Given the description of an element on the screen output the (x, y) to click on. 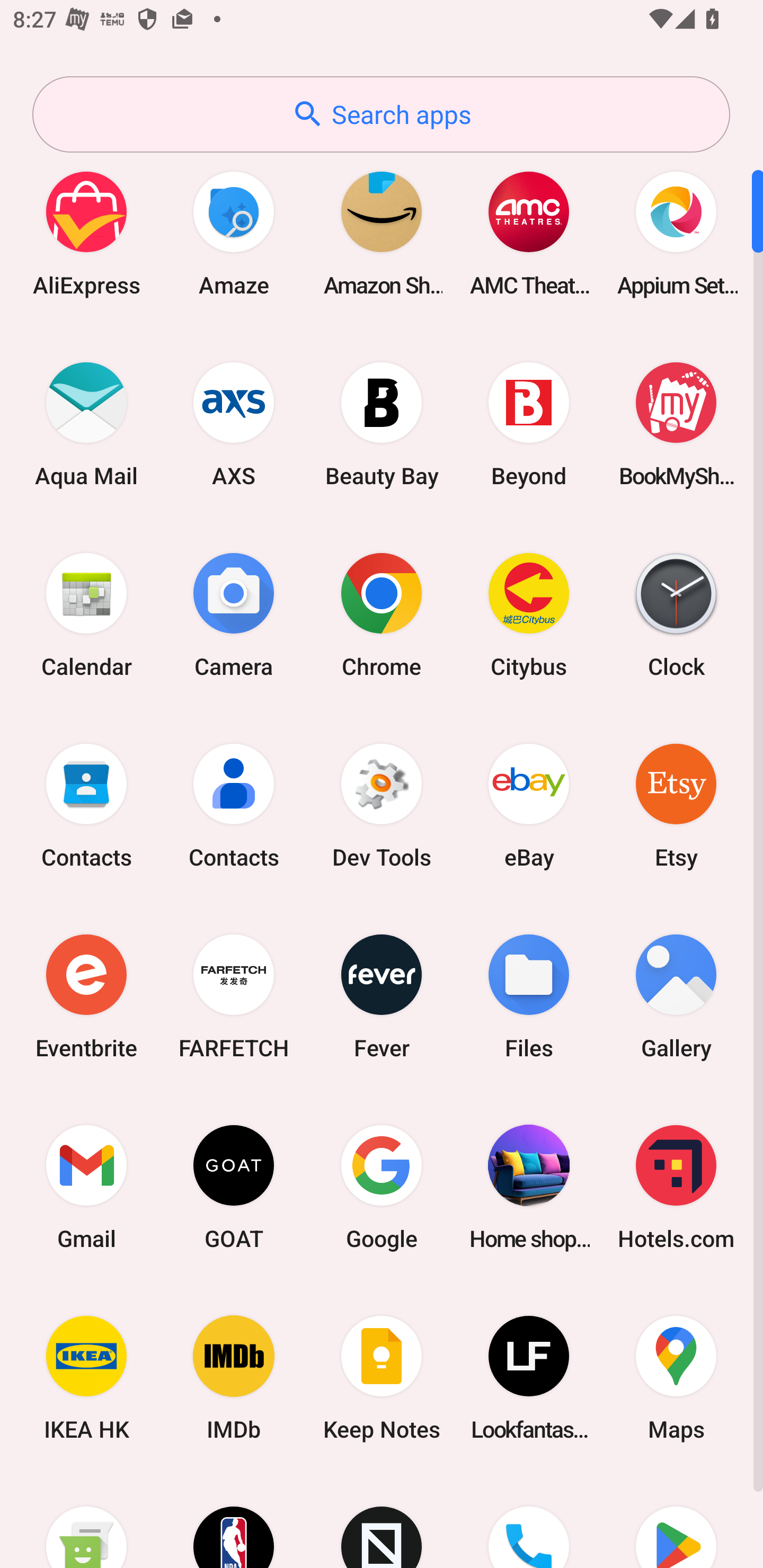
  Search apps (381, 114)
AliExpress (86, 233)
Amaze (233, 233)
Amazon Shopping (381, 233)
AMC Theatres (528, 233)
Appium Settings (676, 233)
Aqua Mail (86, 424)
AXS (233, 424)
Beauty Bay (381, 424)
Beyond (528, 424)
BookMyShow (676, 424)
Calendar (86, 614)
Camera (233, 614)
Chrome (381, 614)
Citybus (528, 614)
Clock (676, 614)
Contacts (86, 805)
Contacts (233, 805)
Dev Tools (381, 805)
eBay (528, 805)
Etsy (676, 805)
Eventbrite (86, 996)
FARFETCH (233, 996)
Fever (381, 996)
Files (528, 996)
Gallery (676, 996)
Gmail (86, 1186)
GOAT (233, 1186)
Google (381, 1186)
Home shopping (528, 1186)
Hotels.com (676, 1186)
IKEA HK (86, 1377)
IMDb (233, 1377)
Keep Notes (381, 1377)
Lookfantastic (528, 1377)
Maps (676, 1377)
Messaging (86, 1520)
NBA (233, 1520)
Novelship (381, 1520)
Phone (528, 1520)
Play Store (676, 1520)
